Given the description of an element on the screen output the (x, y) to click on. 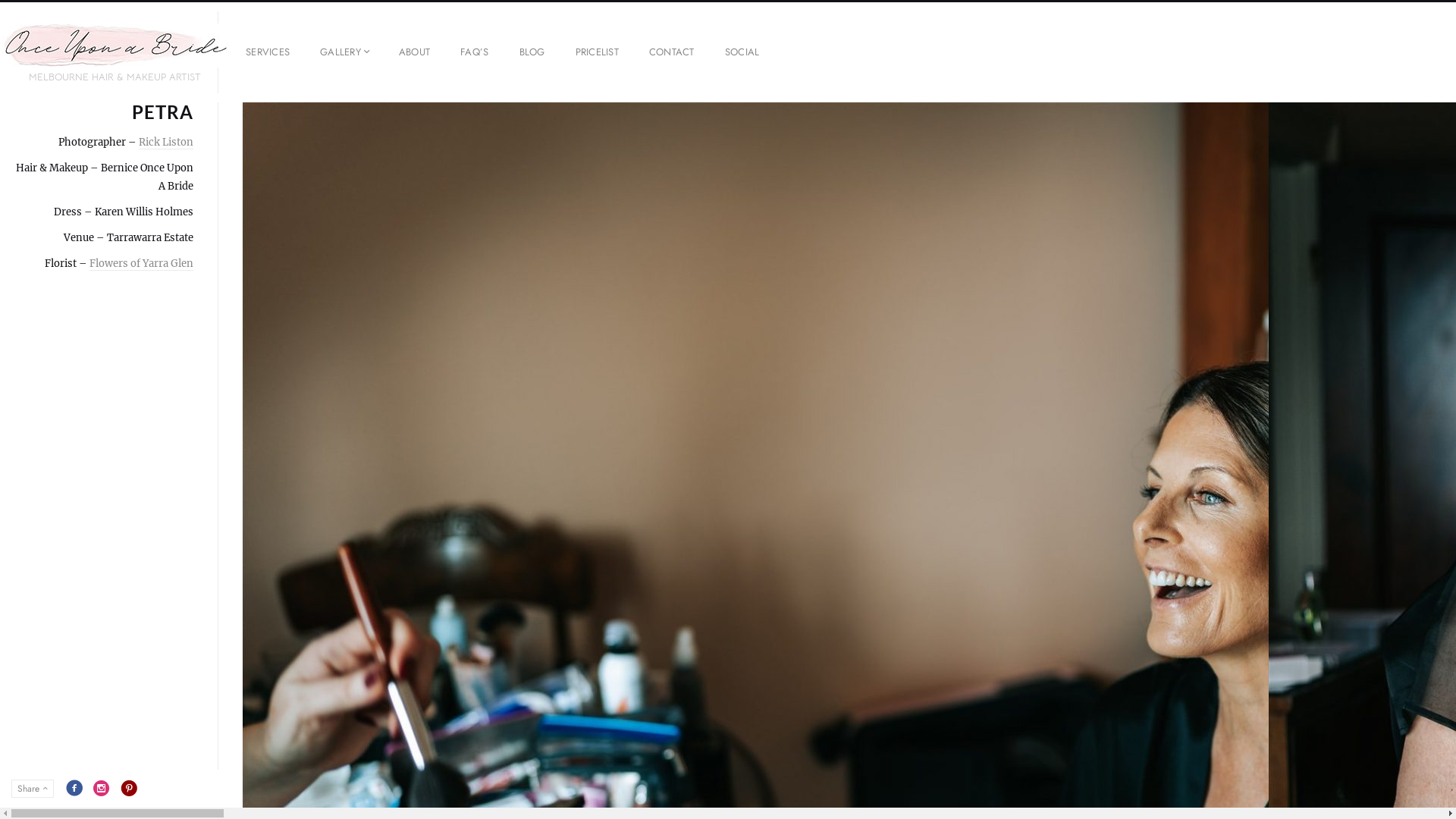
Rick Liston Element type: text (165, 141)
pinterest Element type: hover (128, 787)
SERVICES Element type: text (267, 52)
PRICELIST Element type: text (596, 52)
CONTACT Element type: text (671, 52)
facebook Element type: hover (73, 787)
BLOG Element type: text (532, 52)
SOCIAL Element type: text (741, 52)
ABOUT Element type: text (414, 52)
Flowers of Yarra Glen Element type: text (141, 262)
instagram Element type: hover (101, 787)
GALLERY Element type: text (343, 52)
Once Upon a Bride Element type: hover (115, 45)
